Given the description of an element on the screen output the (x, y) to click on. 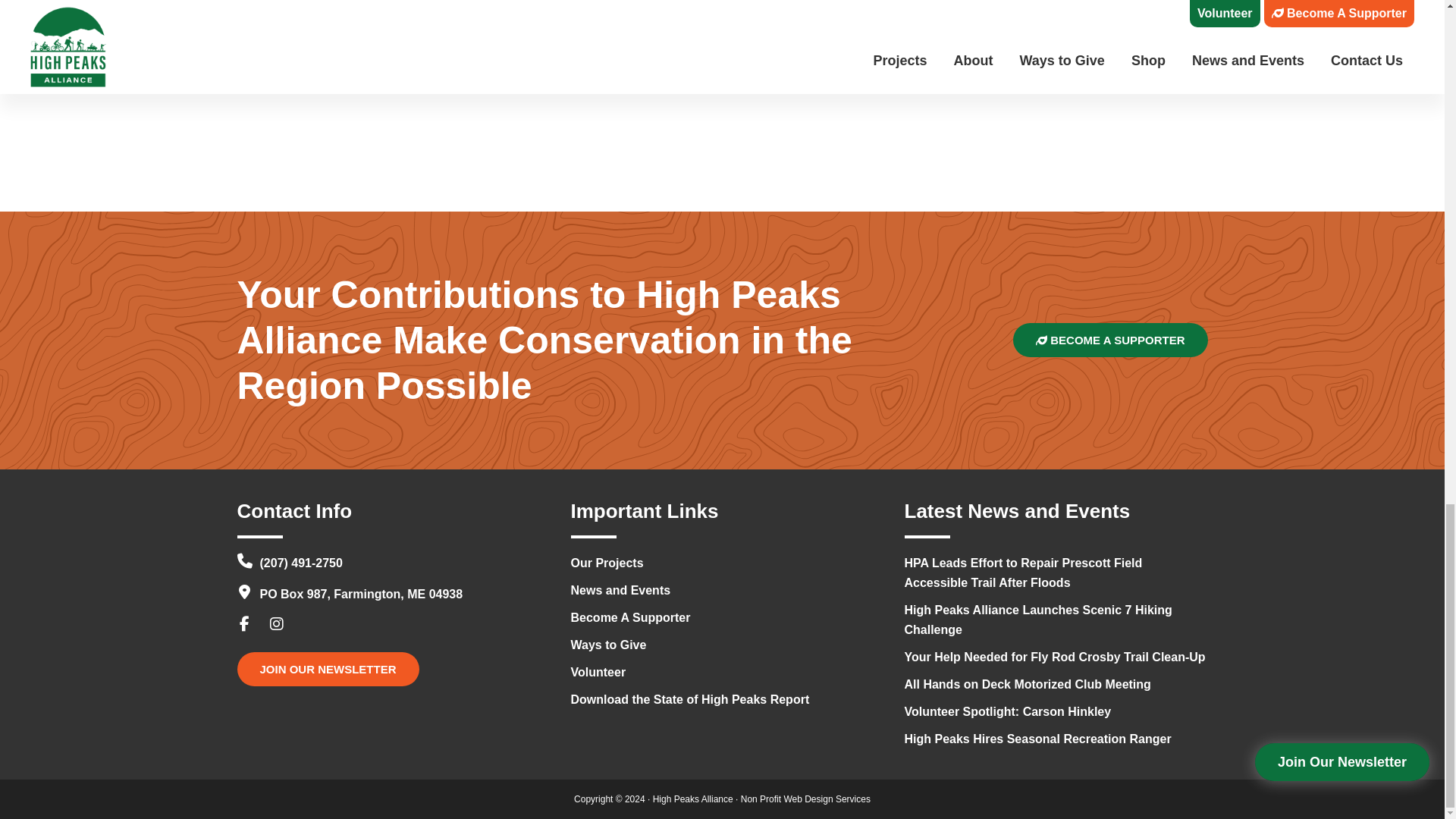
PO Box 987, Farmington, ME 04938 (349, 594)
BECOME A SUPPORTER (1110, 339)
